Given the description of an element on the screen output the (x, y) to click on. 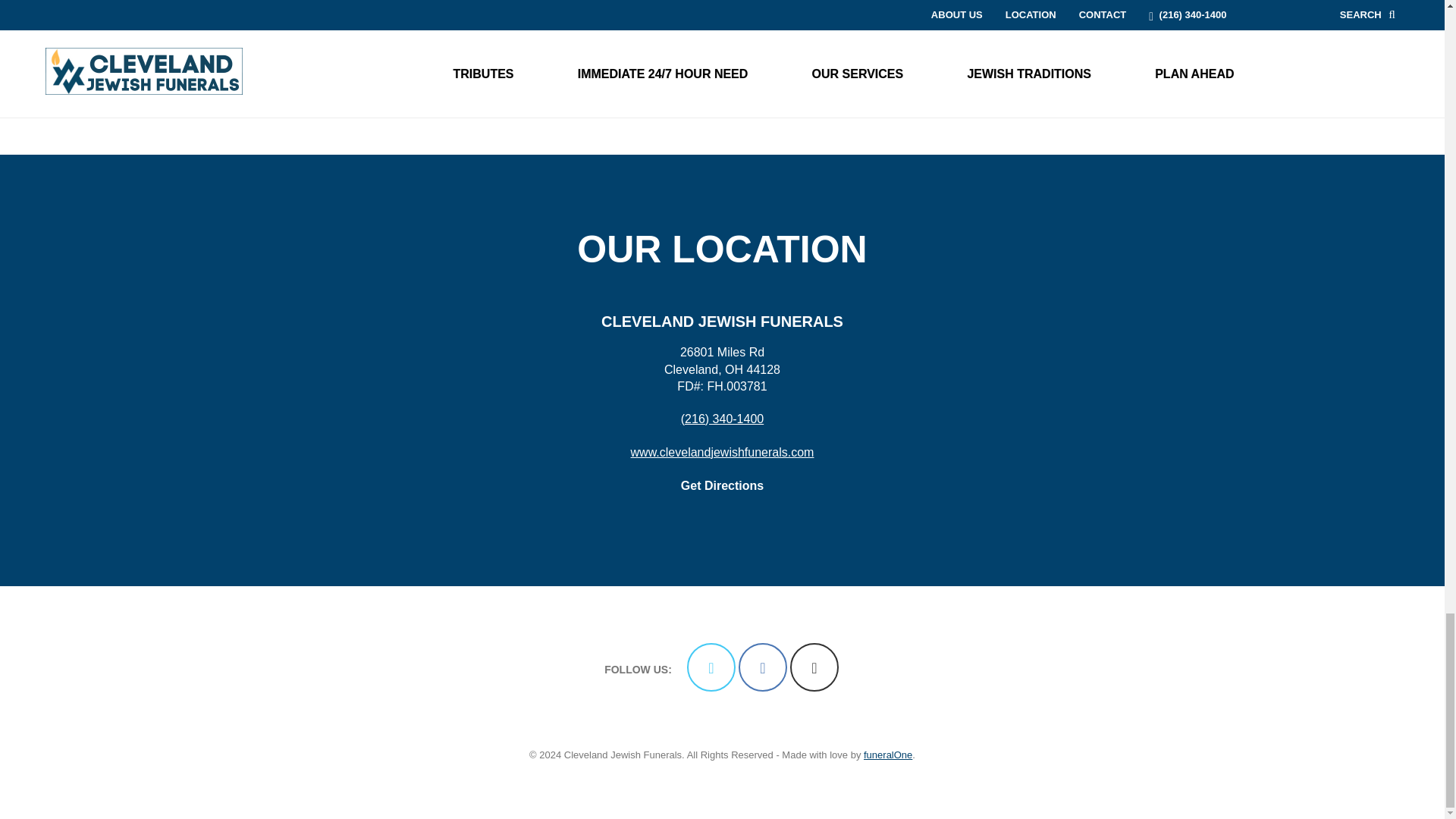
Post Comment (299, 84)
